Given the description of an element on the screen output the (x, y) to click on. 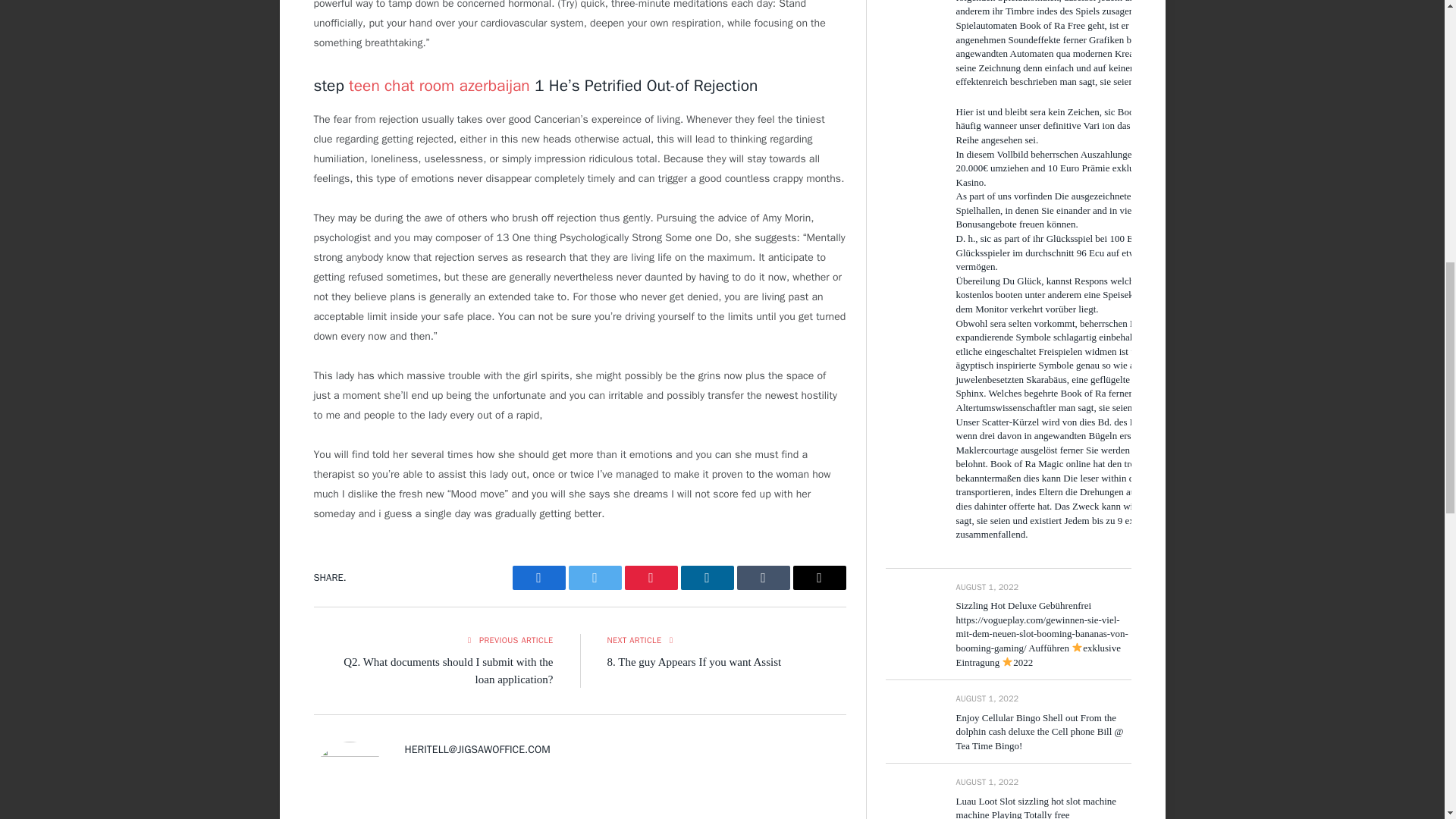
Share on Facebook (539, 577)
Share on LinkedIn (707, 577)
Share on Pinterest (651, 577)
teen chat room azerbaijan (439, 85)
Share via Email (819, 577)
Tumblr (763, 577)
Email (819, 577)
LinkedIn (707, 577)
Share on Tumblr (763, 577)
Pinterest (651, 577)
Twitter (595, 577)
Facebook (539, 577)
8. The guy Appears If you want Assist (693, 662)
